Given the description of an element on the screen output the (x, y) to click on. 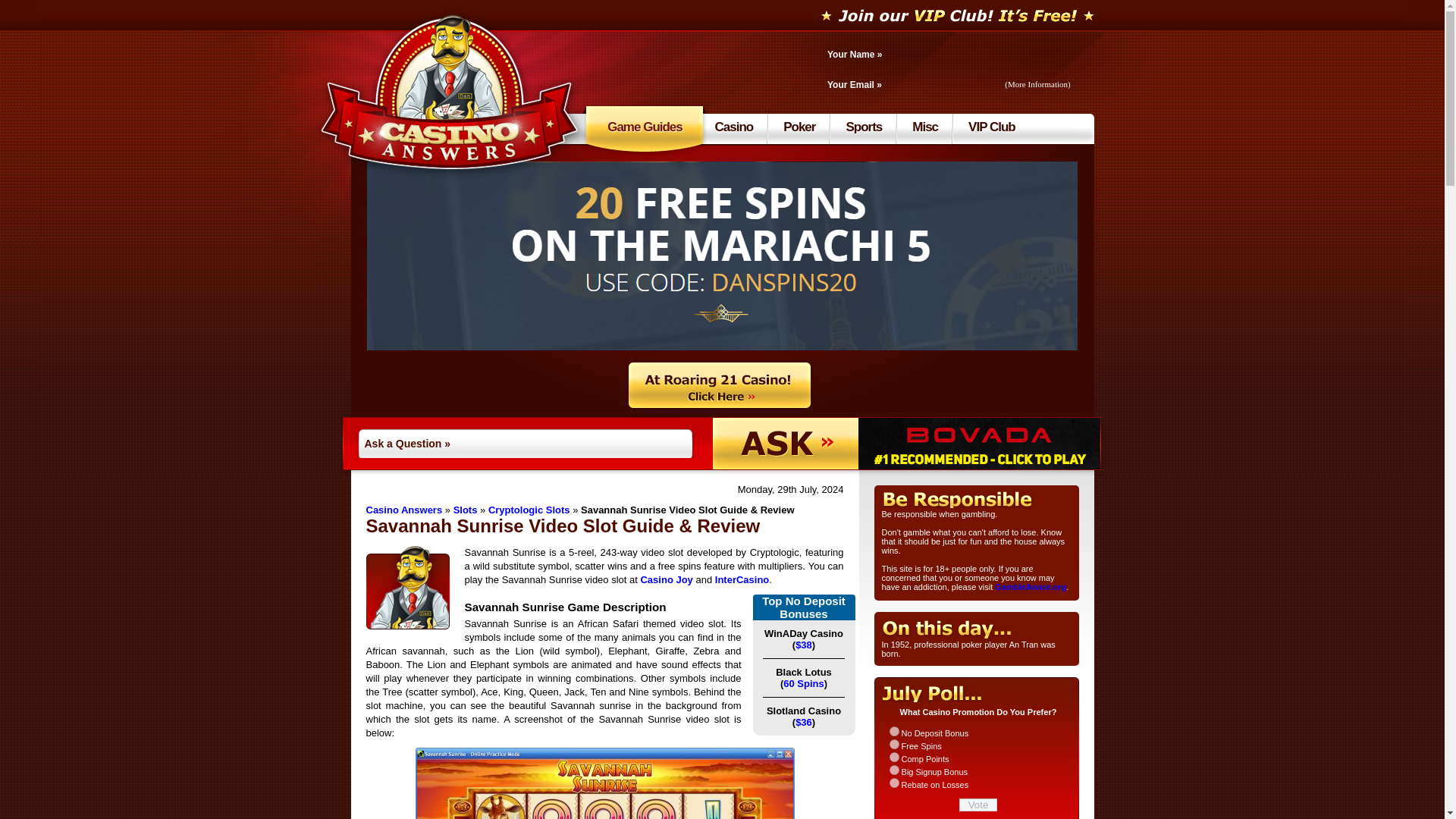
111 (893, 757)
   Vote    (978, 804)
110 (893, 744)
savannah-sunrise-cryptologic-video-slot-01 (604, 783)
109 (893, 731)
112 (893, 769)
113 (893, 782)
